Given the description of an element on the screen output the (x, y) to click on. 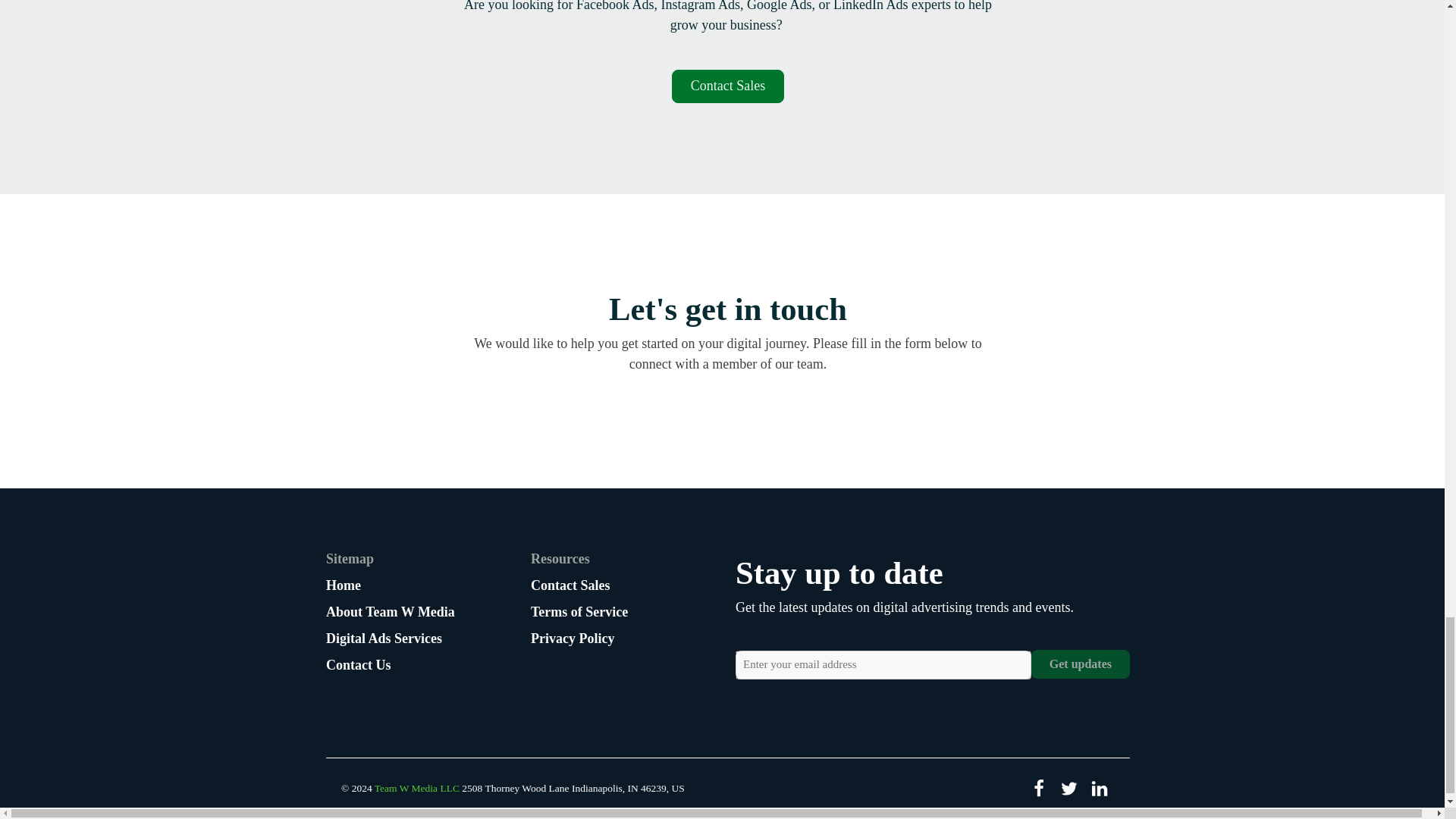
Team W Media LLC (417, 787)
Get updates (1079, 664)
Privacy Policy (579, 638)
Contact Sales (579, 585)
Contact Sales (727, 86)
Home (390, 585)
Get updates (1079, 664)
Digital Ads Services (390, 638)
Contact Us (390, 665)
About Team W Media (390, 611)
Terms of Service (579, 611)
